Given the description of an element on the screen output the (x, y) to click on. 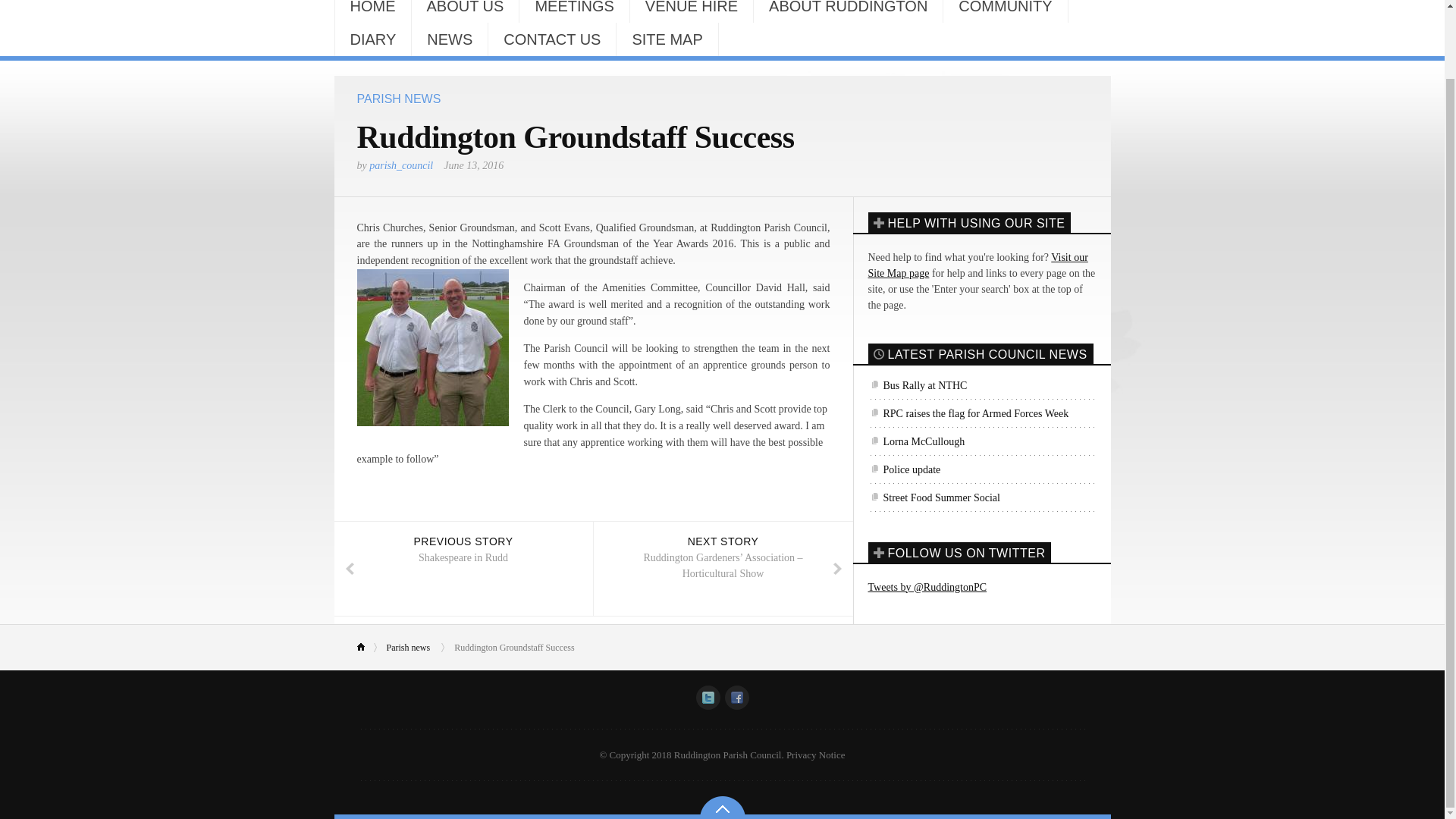
HOME (372, 11)
ABOUT US (464, 11)
VENUE HIRE (691, 11)
Site map (977, 265)
MEETINGS (573, 11)
